Given the description of an element on the screen output the (x, y) to click on. 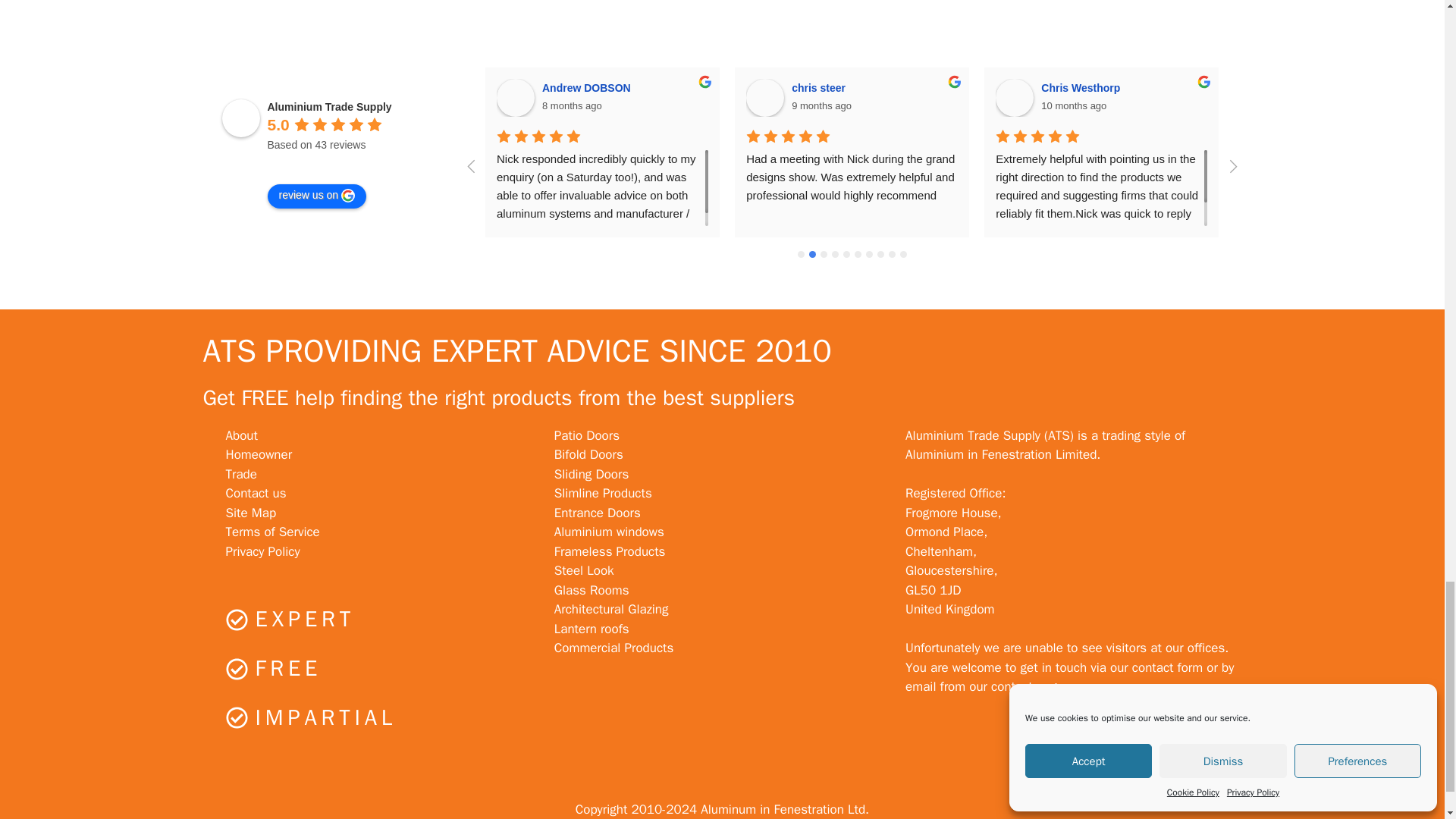
Cathy Greenwood (1263, 97)
chris steer (764, 97)
review us on (316, 196)
Andrew DOBSON (587, 87)
Andrew DOBSON (515, 97)
attlas (540, 7)
Chris Westhorp (1014, 97)
logo-sunvista (175, 2)
Aluminium Trade Supply (328, 106)
Aluminium Trade Supply (240, 118)
6-day-doors (904, 7)
chigwell (1269, 7)
powered by Google (320, 163)
